Given the description of an element on the screen output the (x, y) to click on. 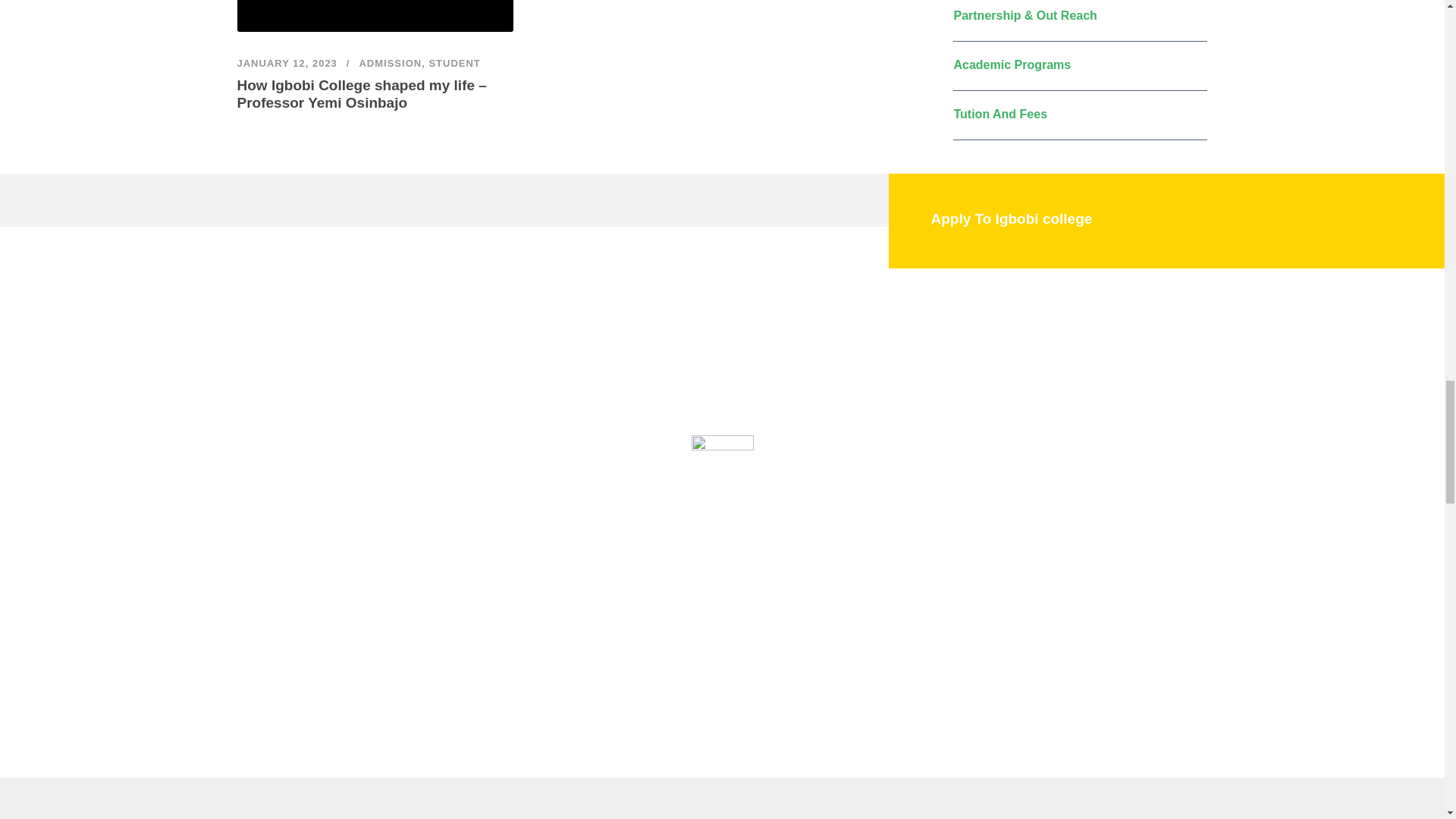
icon-play (722, 465)
